Given the description of an element on the screen output the (x, y) to click on. 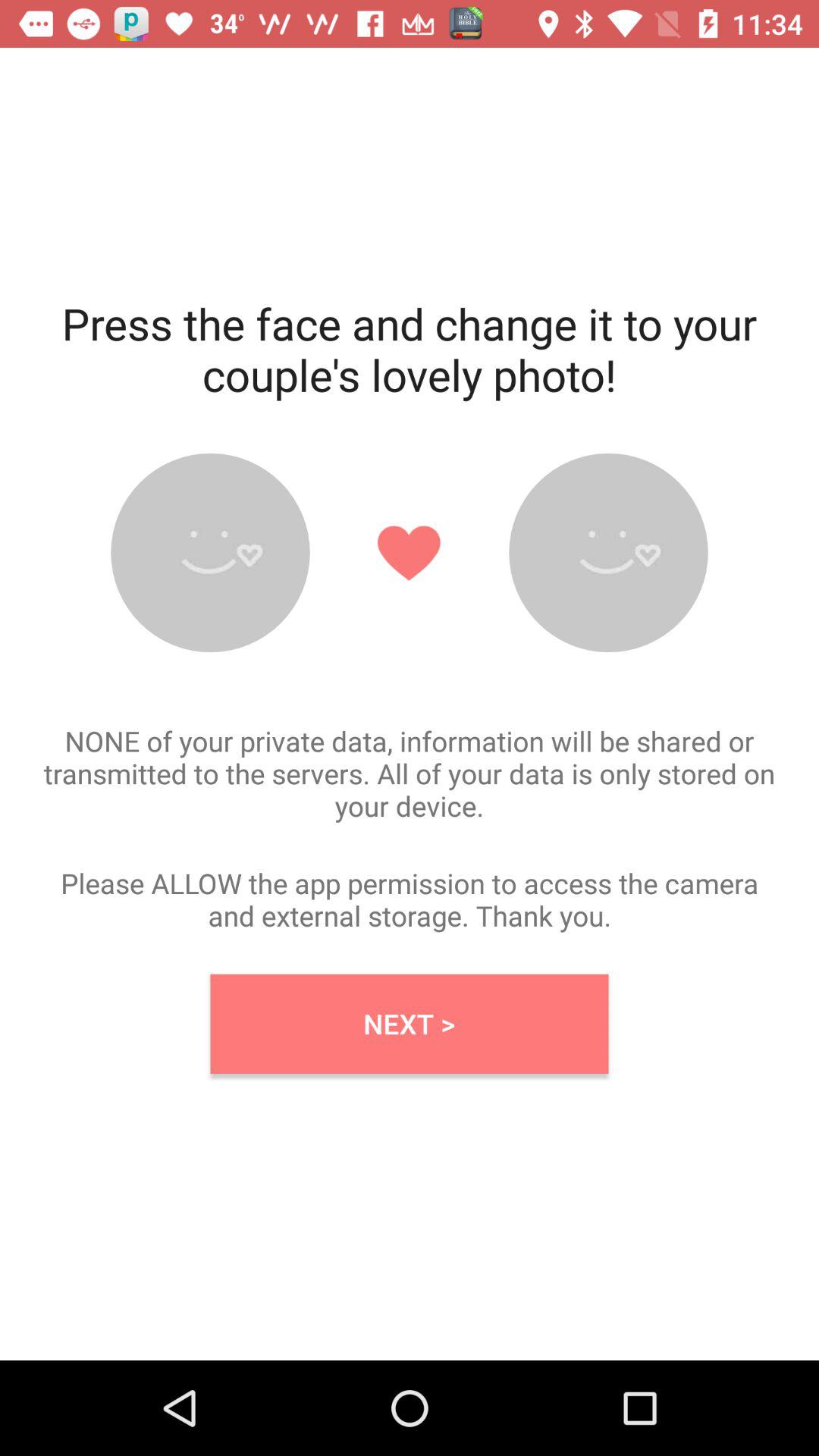
add photo (209, 552)
